Given the description of an element on the screen output the (x, y) to click on. 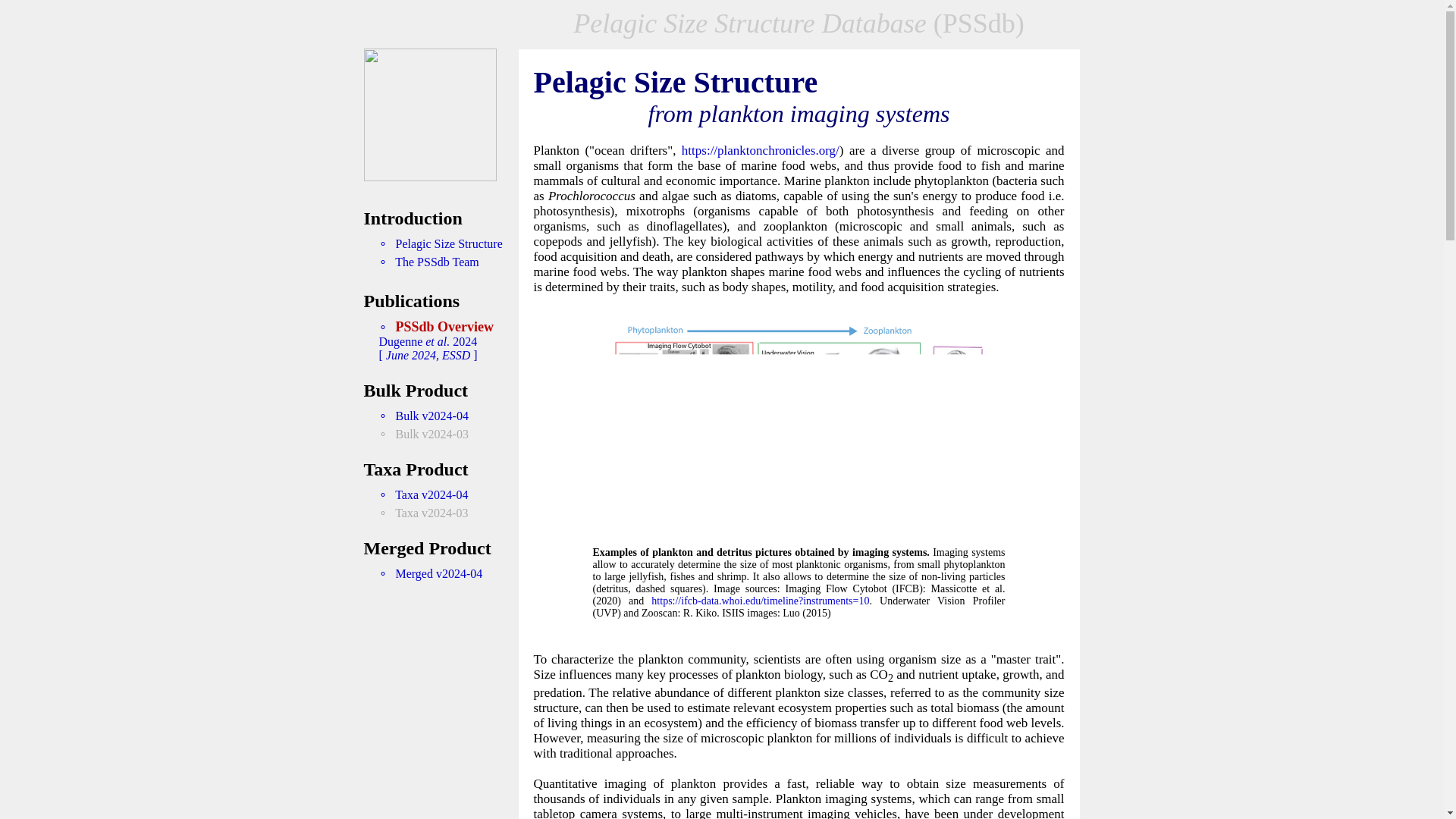
a brief summary of the PSSdb project (440, 243)
click to zoom (799, 524)
who is behind the PSSdb (428, 261)
go back to main menu (430, 176)
